Given the description of an element on the screen output the (x, y) to click on. 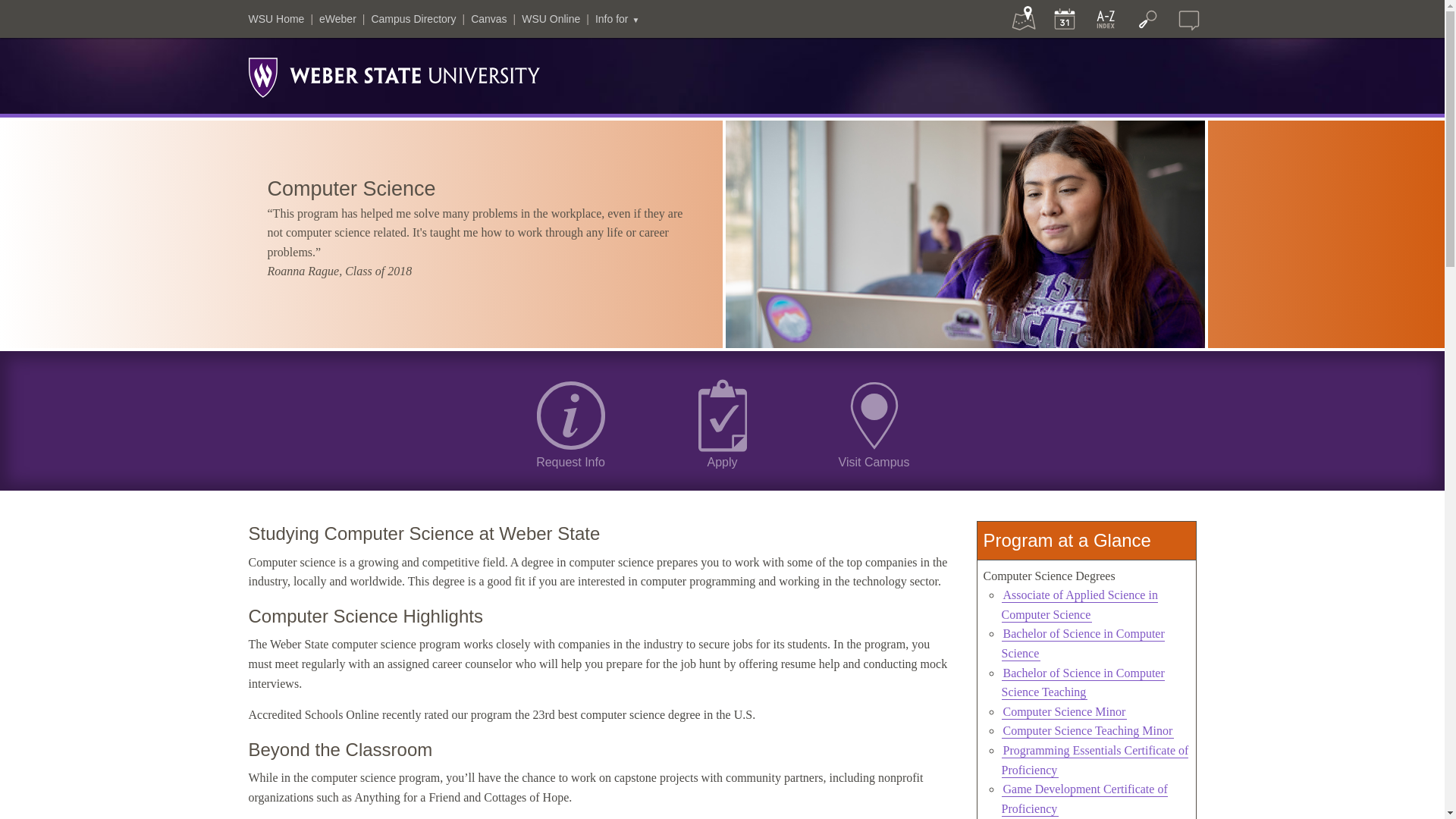
eWeber (337, 19)
WSU Online (550, 19)
Info for (617, 19)
WSU Home (276, 19)
Campus Directory (413, 19)
Canvas (488, 19)
